Given the description of an element on the screen output the (x, y) to click on. 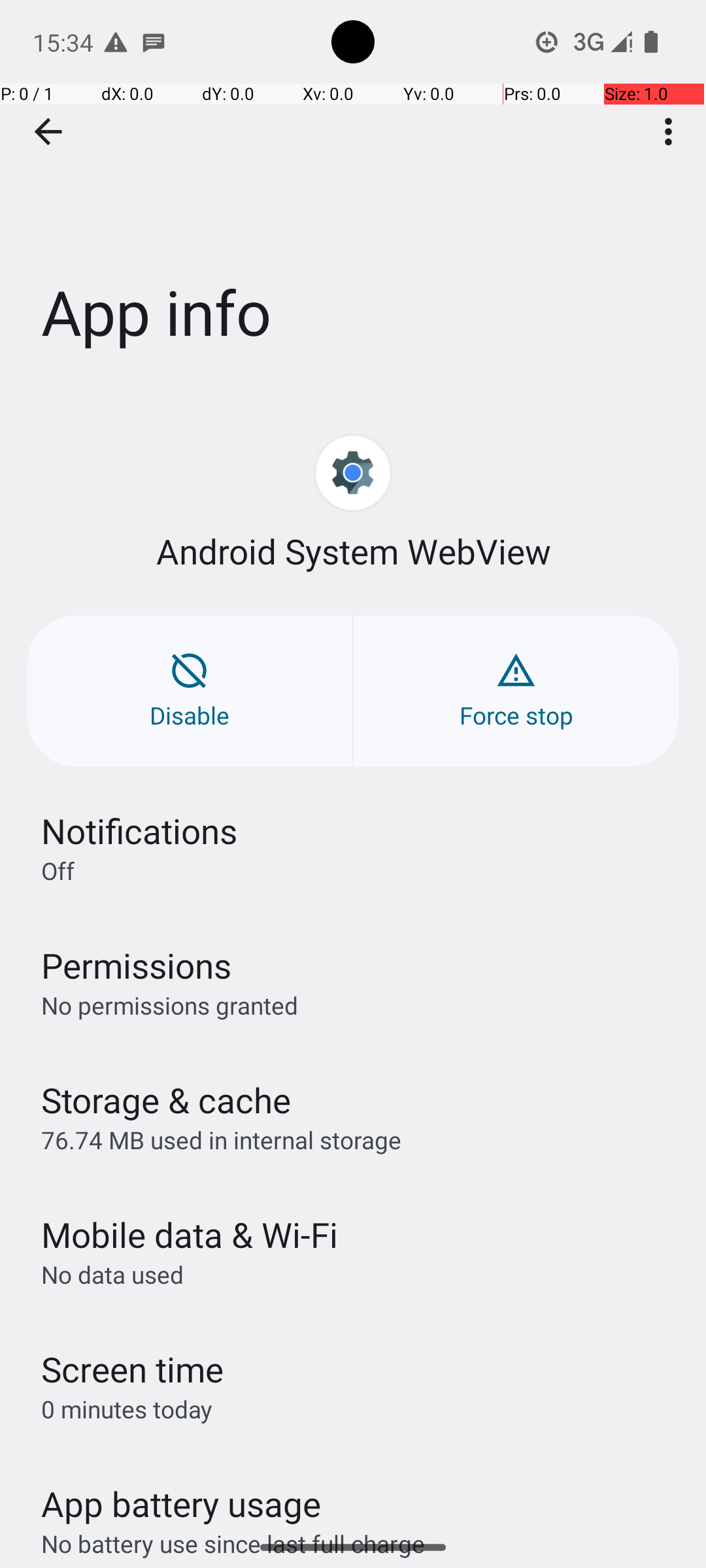
App info Element type: android.widget.FrameLayout (353, 195)
Android System WebView Element type: android.widget.TextView (352, 550)
Disable Element type: android.widget.Button (189, 690)
Force stop Element type: android.widget.Button (515, 690)
Permissions Element type: android.widget.TextView (136, 965)
No permissions granted Element type: android.widget.TextView (169, 1004)
Storage & cache Element type: android.widget.TextView (166, 1099)
76.74 MB used in internal storage Element type: android.widget.TextView (221, 1139)
Mobile data & Wi‑Fi Element type: android.widget.TextView (189, 1234)
No data used Element type: android.widget.TextView (112, 1273)
Screen time Element type: android.widget.TextView (132, 1368)
0 minutes today Element type: android.widget.TextView (127, 1408)
App battery usage Element type: android.widget.TextView (181, 1503)
